Given the description of an element on the screen output the (x, y) to click on. 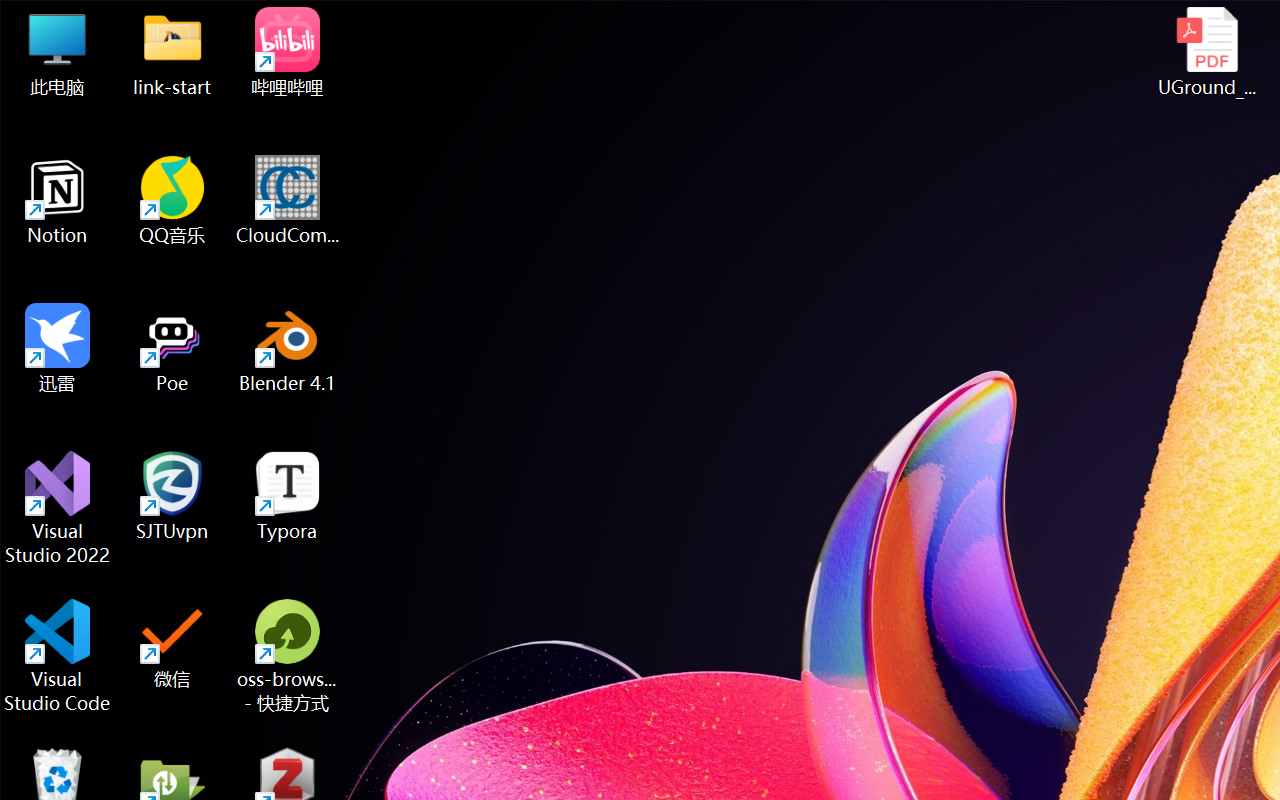
SJTUvpn (172, 496)
Visual Studio 2022 (57, 508)
Poe (172, 348)
Notion (57, 200)
Typora (287, 496)
UGround_paper.pdf (1206, 52)
CloudCompare (287, 200)
Visual Studio Code (57, 656)
Blender 4.1 (287, 348)
